Given the description of an element on the screen output the (x, y) to click on. 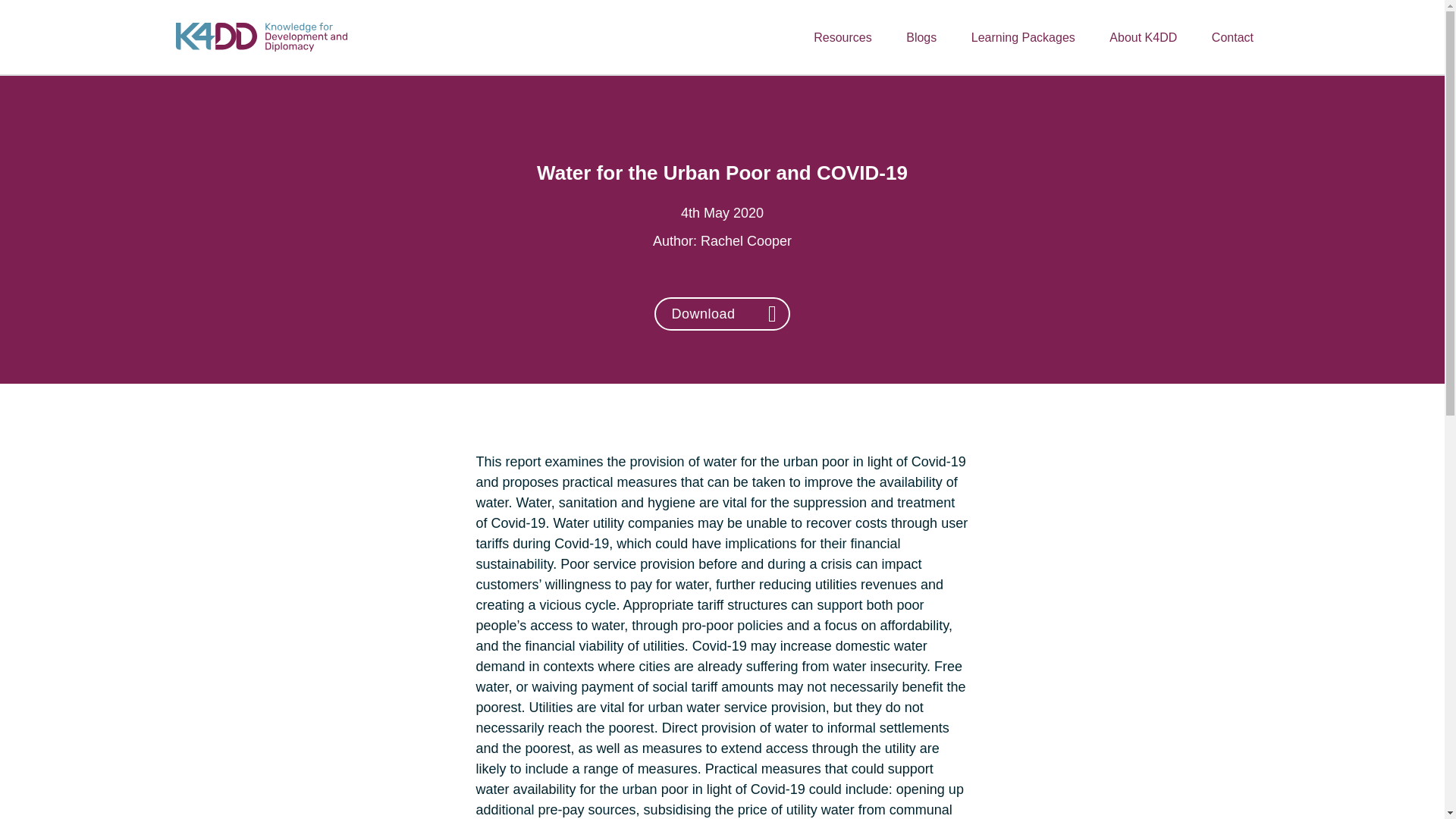
Home (261, 36)
Resources (841, 38)
About K4DD (1143, 38)
Learning Packages (1023, 38)
Contact (1232, 38)
Download (721, 313)
